Given the description of an element on the screen output the (x, y) to click on. 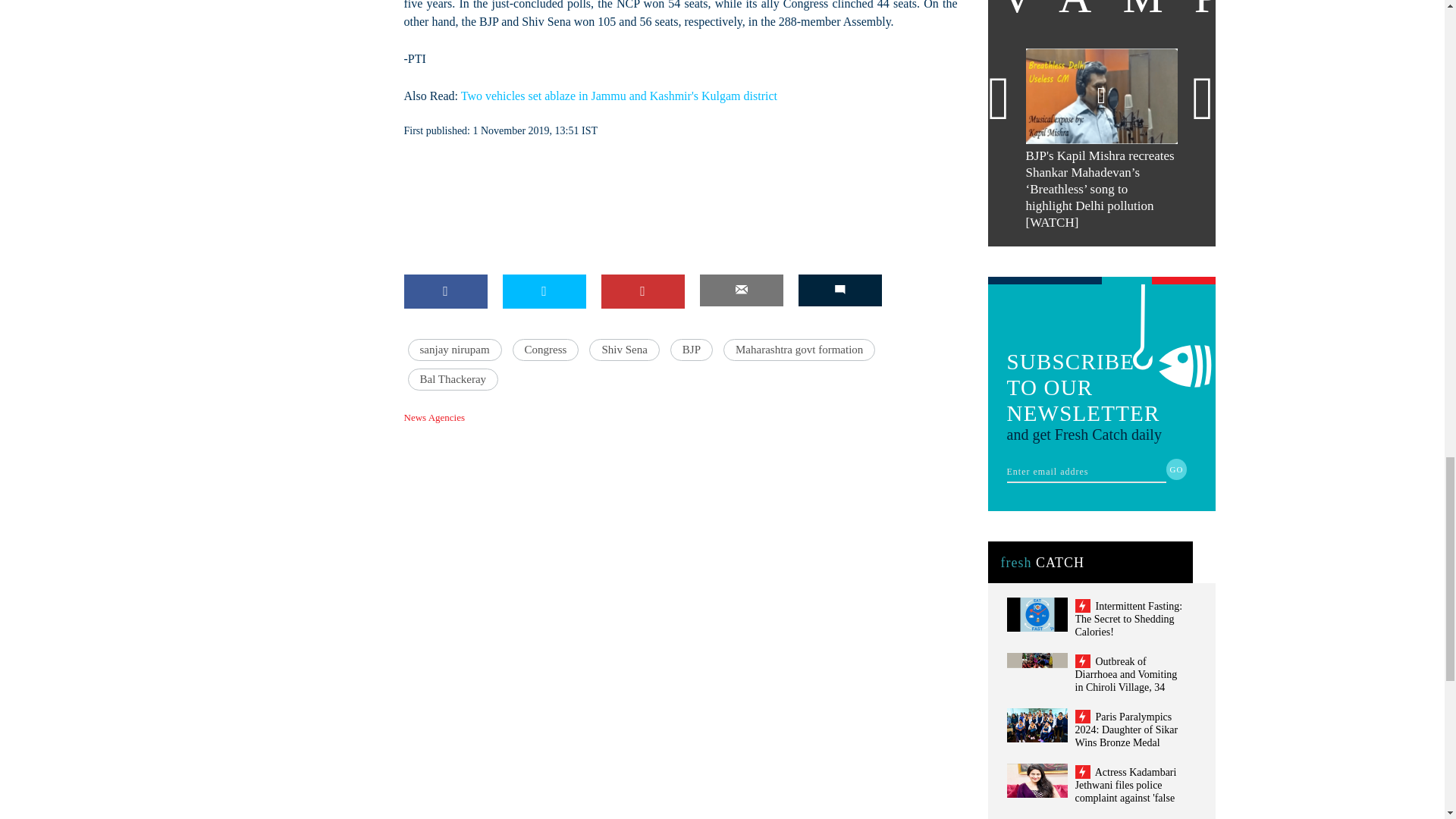
sanjay nirupam (454, 350)
Maharashtra govt formation  (799, 350)
Congress (545, 350)
GO (1177, 468)
BJP (691, 350)
Bal Thackeray (453, 379)
Shiv Sena (624, 350)
